Given the description of an element on the screen output the (x, y) to click on. 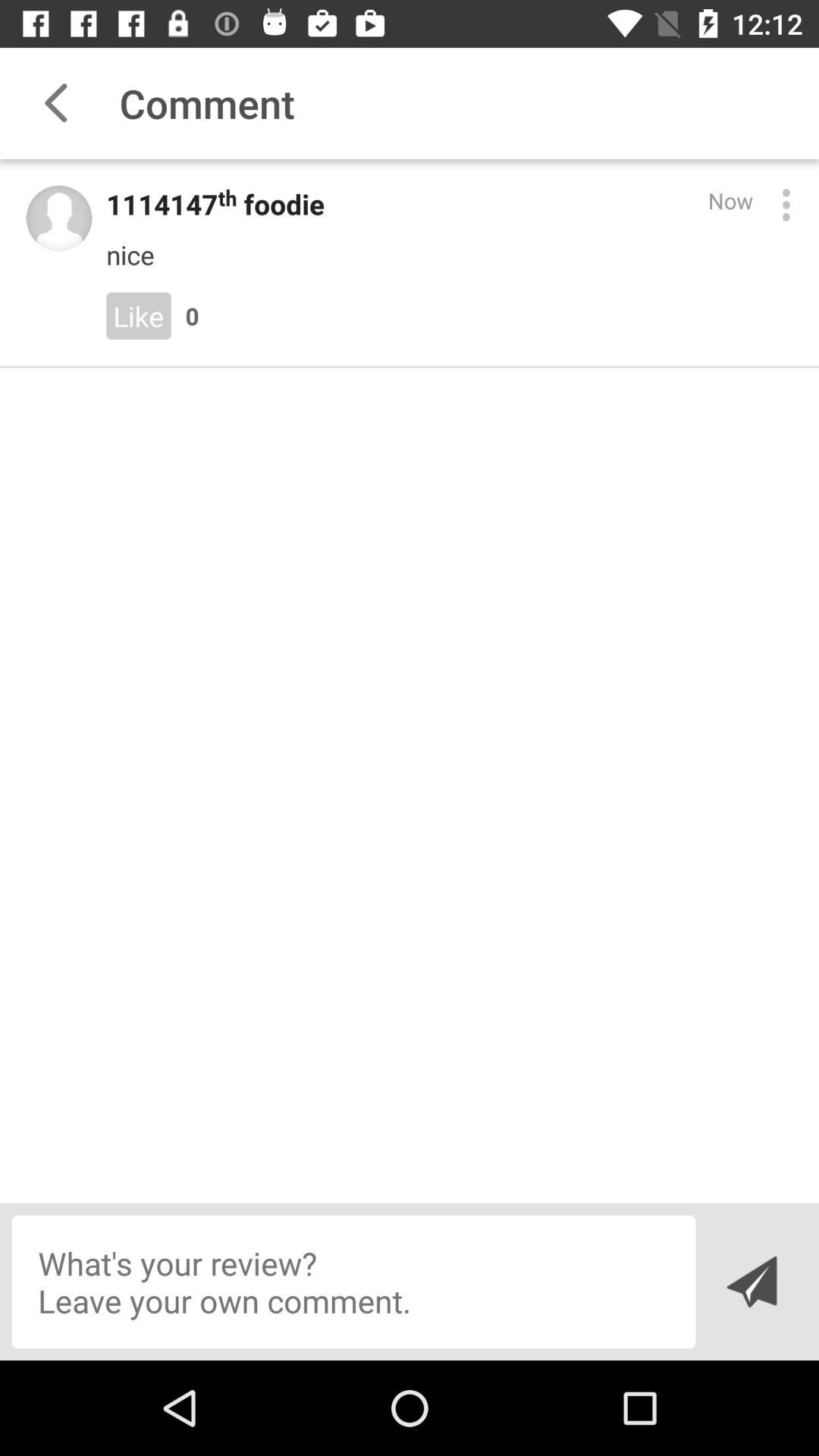
write a comment (353, 1281)
